Given the description of an element on the screen output the (x, y) to click on. 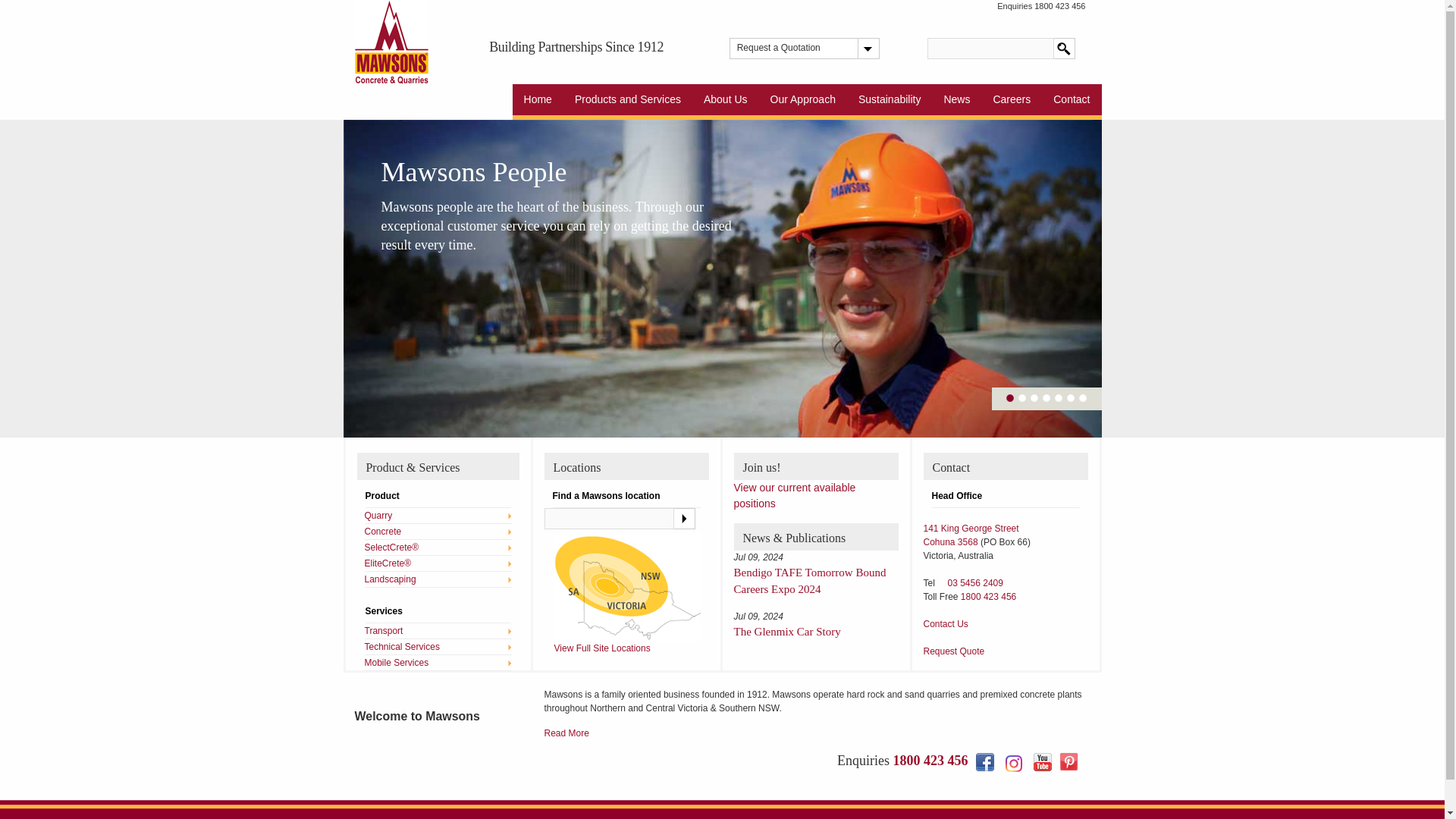
Mawsons Facebook Page (983, 761)
Our Approach (802, 101)
News (956, 101)
Home (537, 101)
About Us (725, 101)
Mawsons YouTube Channel (1041, 761)
1800 423 456 (1058, 5)
Mawsons Instagram Page (1013, 763)
Sustainability (890, 101)
Products and Services (628, 101)
Careers (1011, 101)
Request a Quotation (796, 47)
Mawsons Pinterest Page (1067, 761)
